Given the description of an element on the screen output the (x, y) to click on. 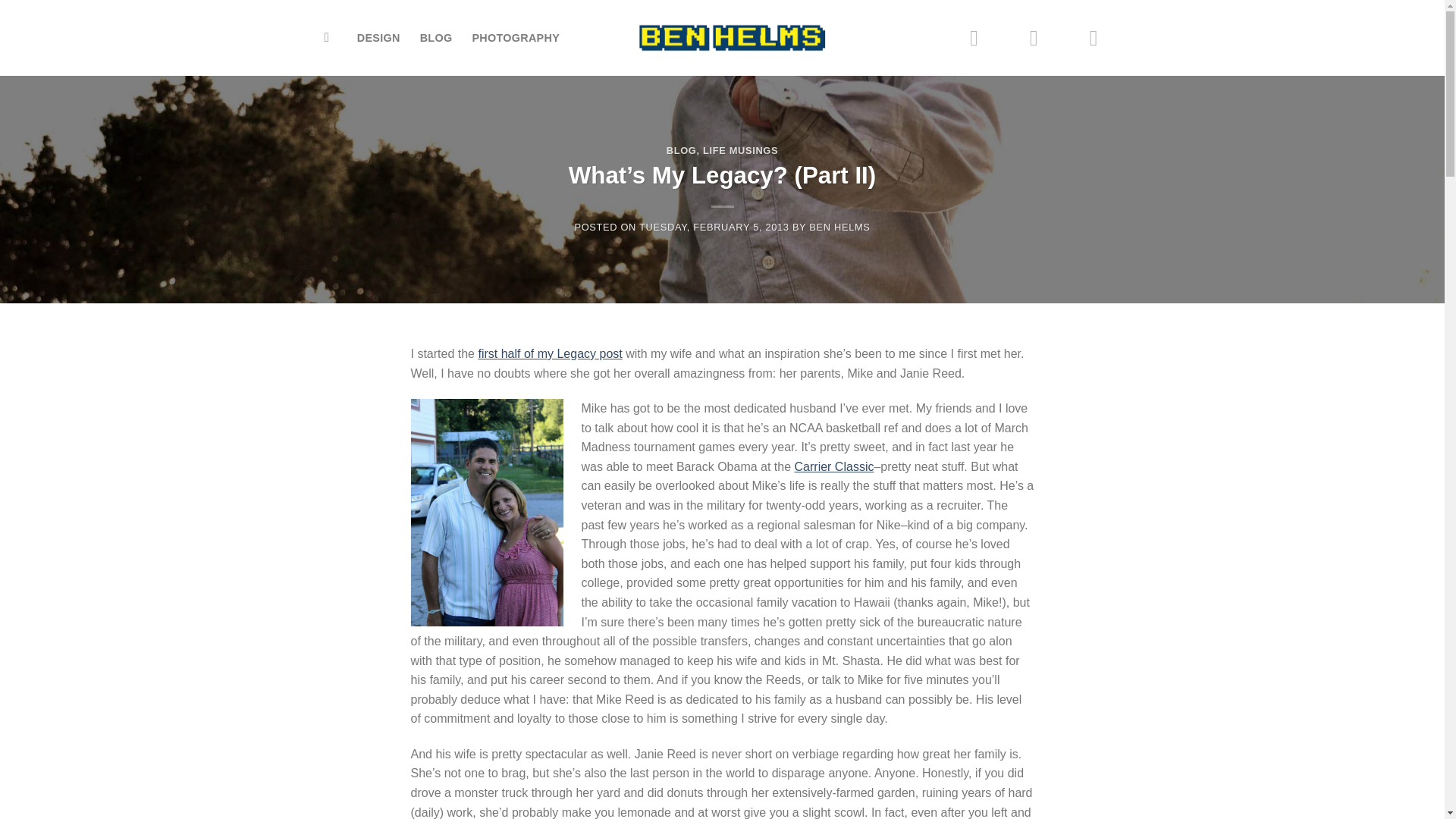
LIFE MUSINGS (740, 150)
BEN HELMS (839, 226)
BLOG (681, 150)
Ben Helms -  (732, 37)
PHOTOGRAPHY (515, 37)
DESIGN (378, 37)
TUESDAY, FEBRUARY 5, 2013 (714, 226)
BLOG (436, 37)
first half of my Legacy post (549, 353)
Carrier Classic (834, 466)
